Given the description of an element on the screen output the (x, y) to click on. 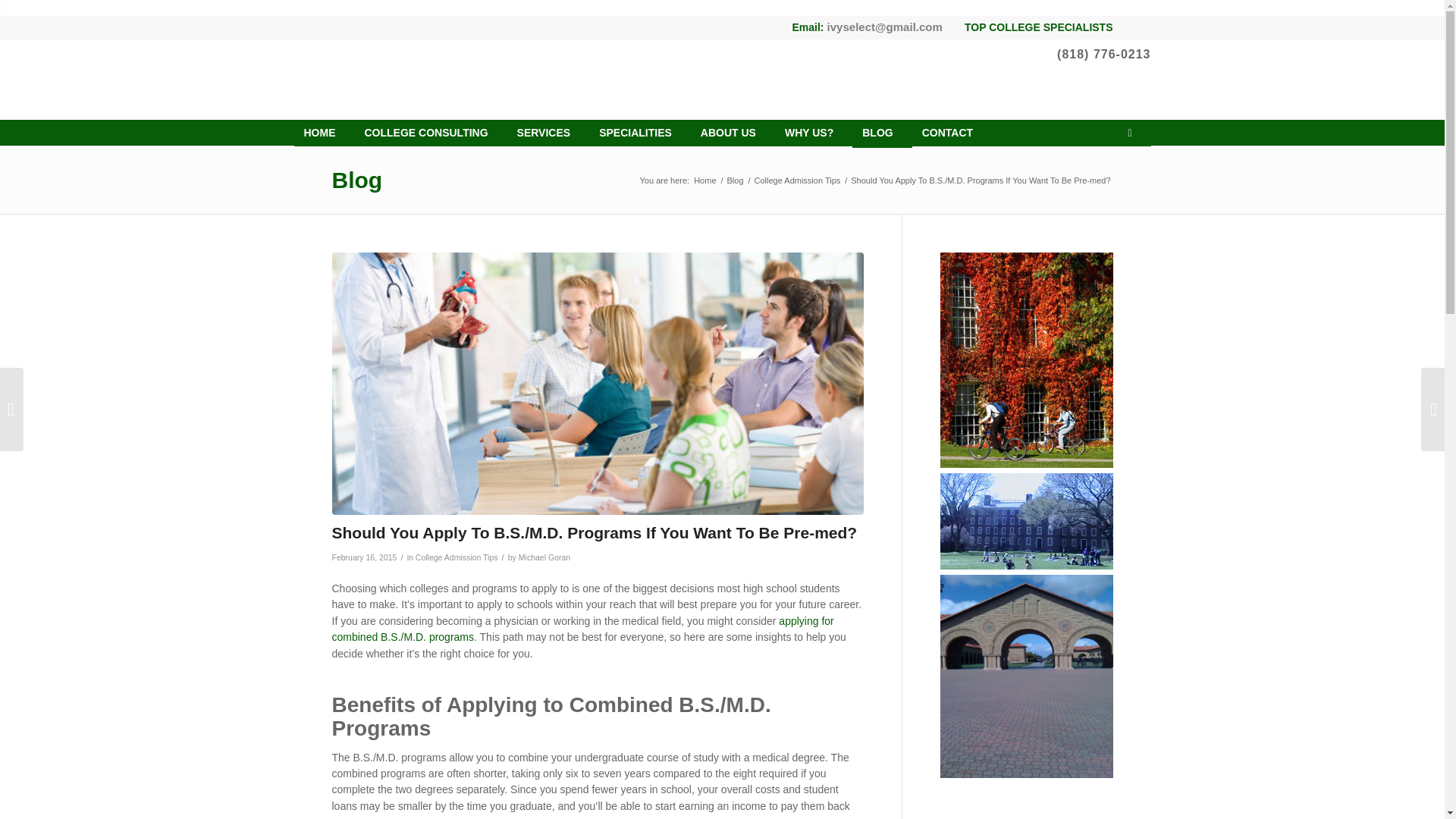
IvySelect (704, 180)
Blog (356, 179)
COLLEGE CONSULTING (430, 133)
SPECIALITIES (639, 133)
Michael Goran (544, 556)
Blog (735, 180)
BLOG (881, 133)
Home (704, 180)
IvySelect College Consulting (324, 133)
SERVICES (547, 133)
